Given the description of an element on the screen output the (x, y) to click on. 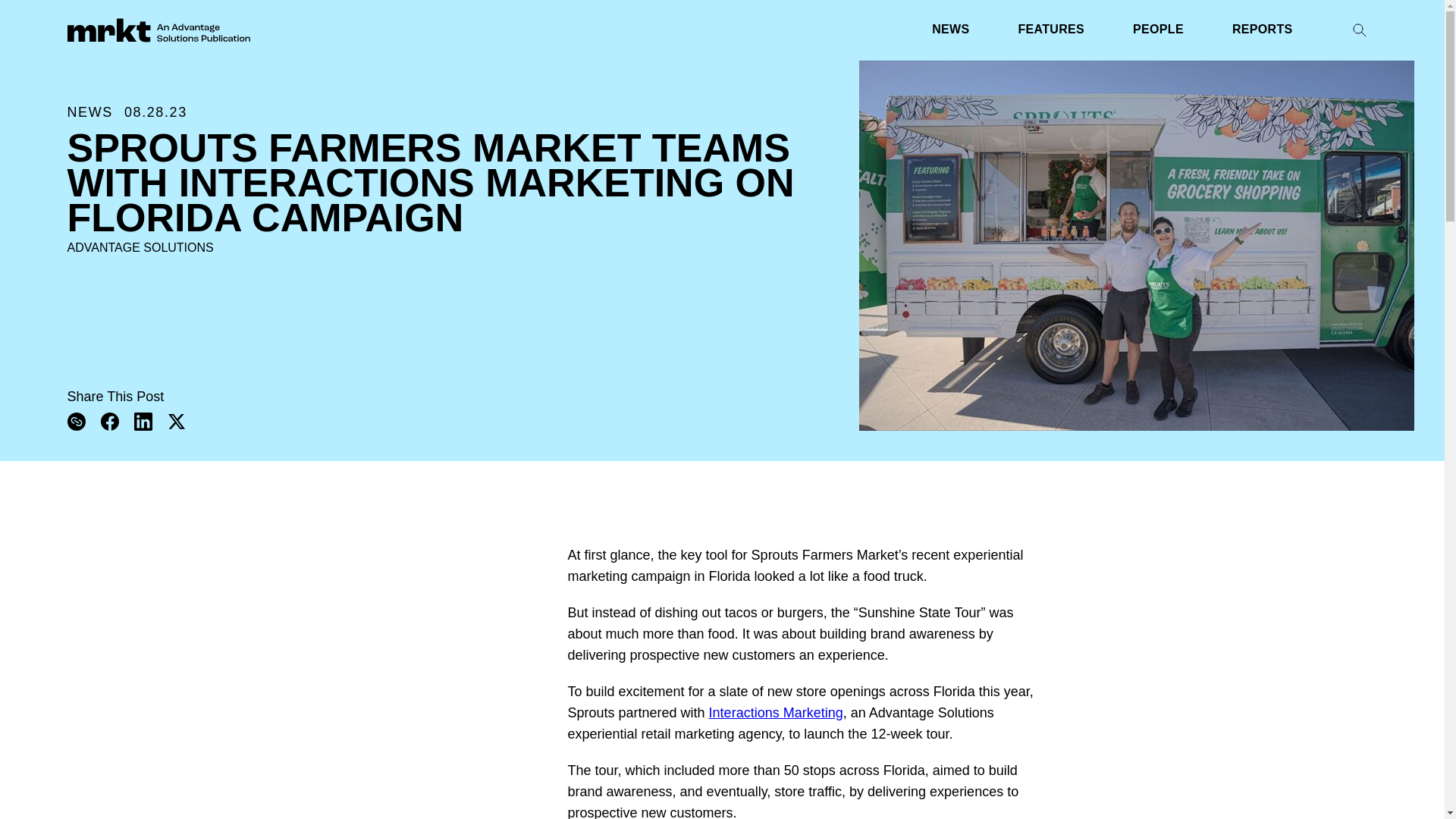
FEATURES (1050, 29)
NEWS (950, 29)
Open on LinkedIn (142, 421)
Interactions Marketing (776, 712)
PEOPLE (1157, 29)
Open on Facebook (108, 421)
REPORTS (1261, 29)
Copy URL to the clipboard (75, 421)
